Given the description of an element on the screen output the (x, y) to click on. 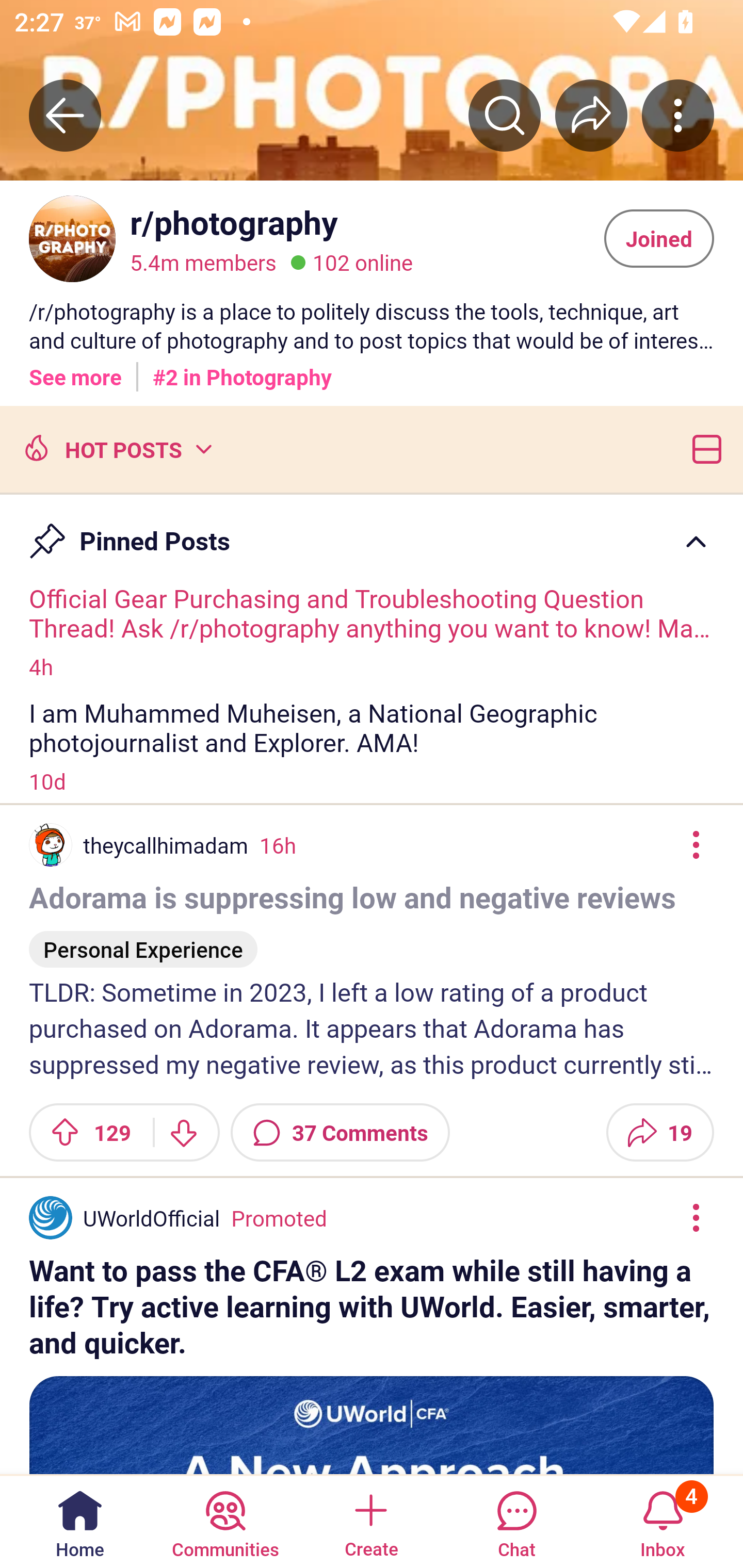
Back (64, 115)
Search r/﻿photography (504, 115)
Share r/﻿photography (591, 115)
More community actions (677, 115)
Hot posts HOT POSTS (116, 448)
Card (703, 448)
Pin Pinned Posts Caret (371, 531)
Personal Experience (142, 940)
Home (80, 1520)
Communities (225, 1520)
Create a post Create (370, 1520)
Chat (516, 1520)
Inbox, has 4 notifications 4 Inbox (662, 1520)
